Given the description of an element on the screen output the (x, y) to click on. 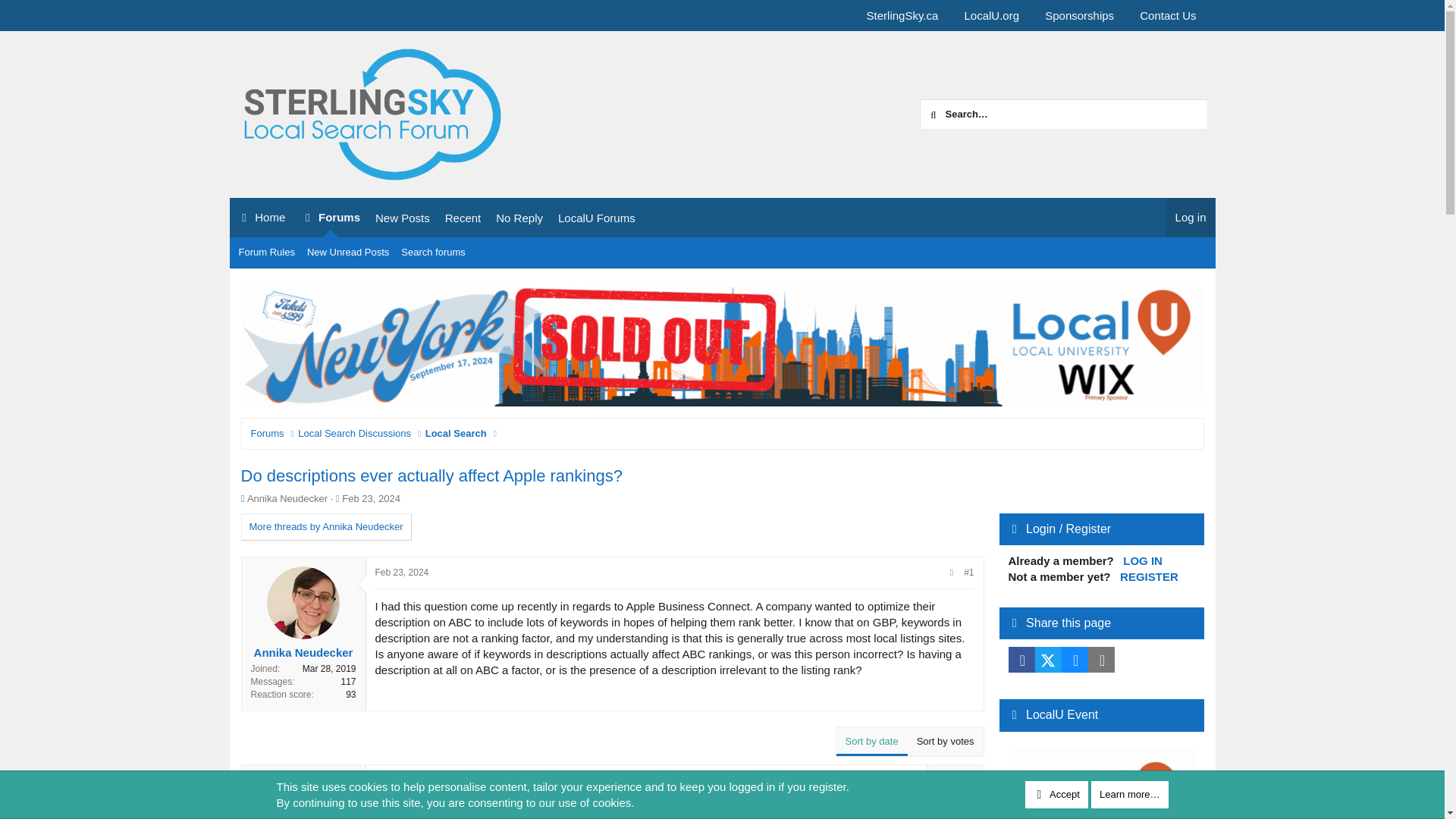
No Reply (518, 218)
New Posts (403, 218)
Forum Rules (265, 251)
Recent (463, 218)
Annika Neudecker (287, 498)
Log in (1190, 217)
Contact Us (1167, 15)
Do descriptions ever actually affect Apple rankings? (432, 475)
Forums (330, 217)
Local Search (435, 217)
Home (455, 433)
Feb 23, 2024 at 1:19 PM (260, 217)
Search forums (721, 269)
